Given the description of an element on the screen output the (x, y) to click on. 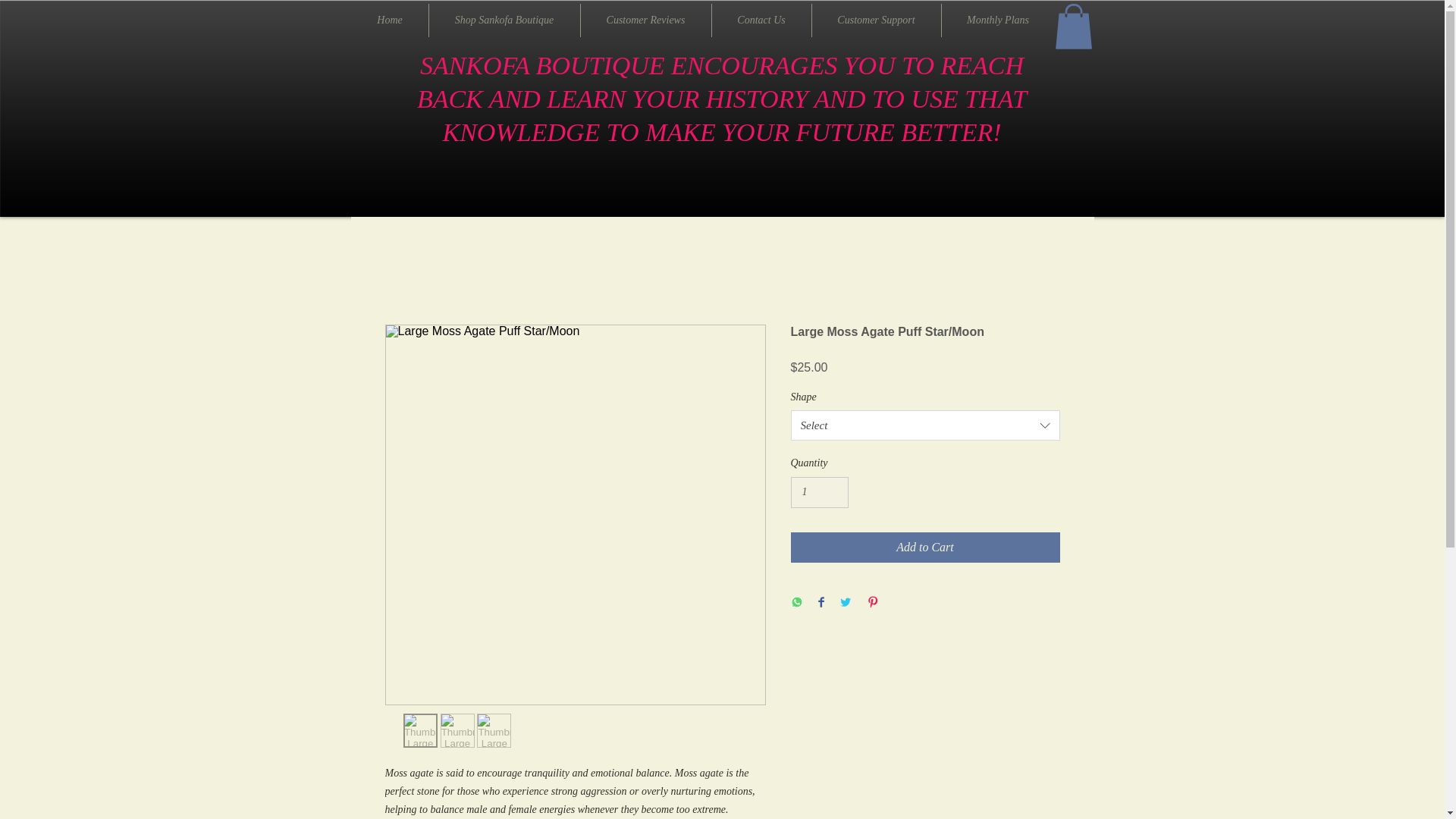
Add to Cart (924, 547)
Select (924, 425)
1 (818, 491)
Monthly Plans (998, 20)
Home (390, 20)
Shop Sankofa Boutique (504, 20)
Customer Support (875, 20)
Customer Reviews (645, 20)
Contact Us (760, 20)
